Given the description of an element on the screen output the (x, y) to click on. 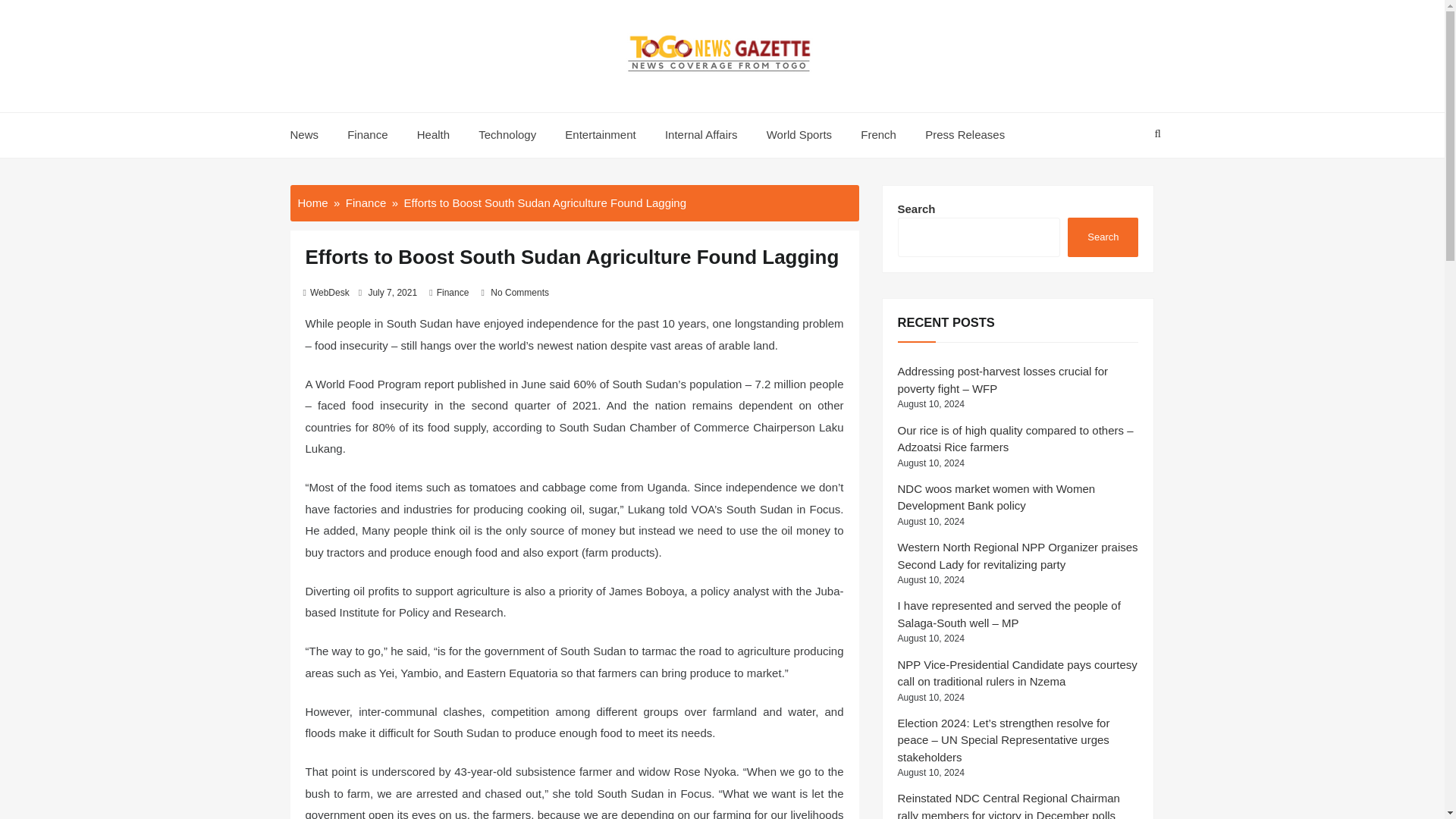
Internal Affairs (701, 135)
Health (433, 135)
July 7, 2021 (392, 292)
Press Releases (961, 135)
No Comments (519, 292)
World Sports (799, 135)
Finance (365, 201)
Entertainment (599, 135)
